Given the description of an element on the screen output the (x, y) to click on. 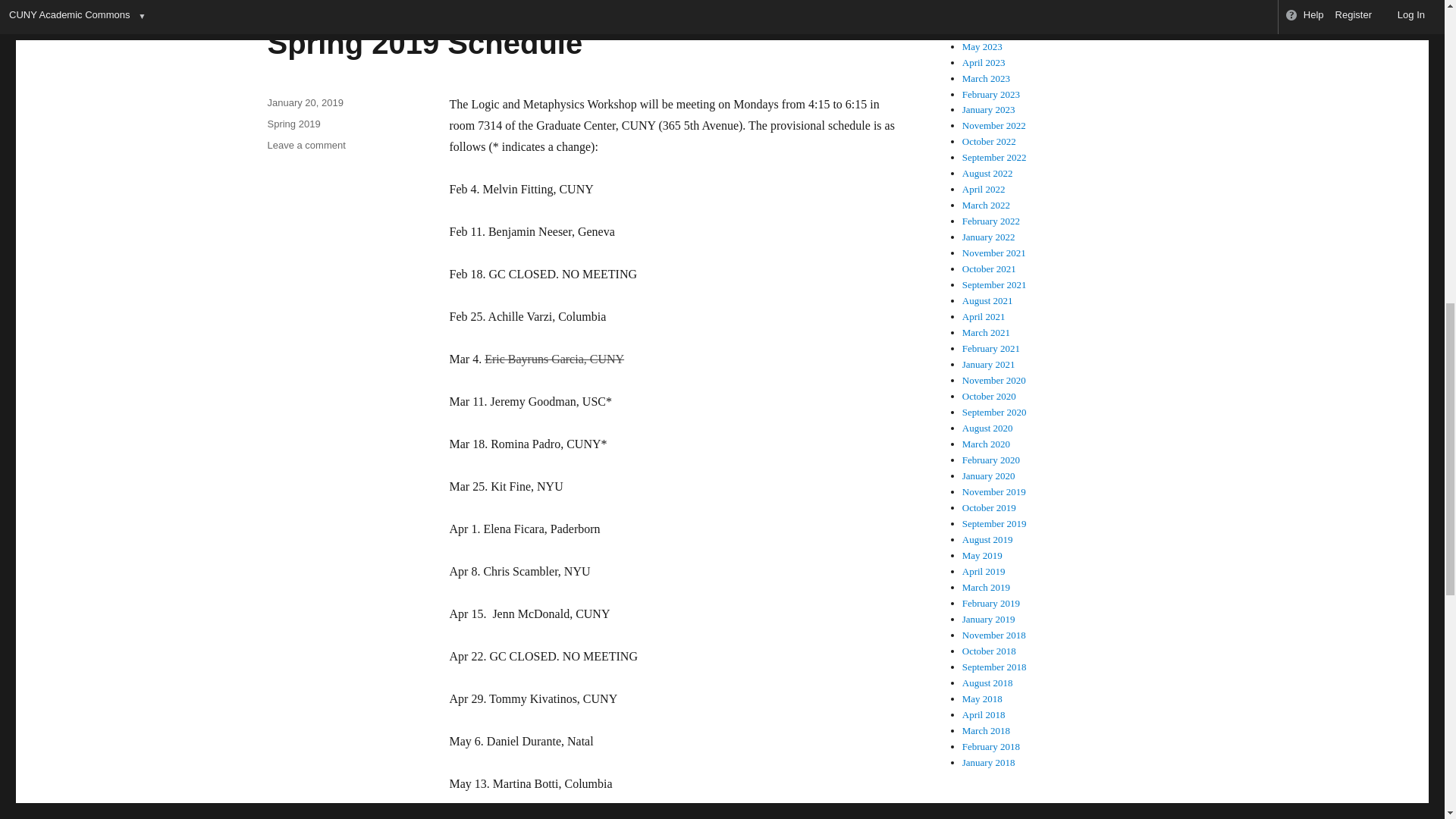
Spring 2019 Schedule (424, 42)
January 20, 2019 (304, 102)
Spring 2019 (293, 123)
October 2023 (305, 144)
